Given the description of an element on the screen output the (x, y) to click on. 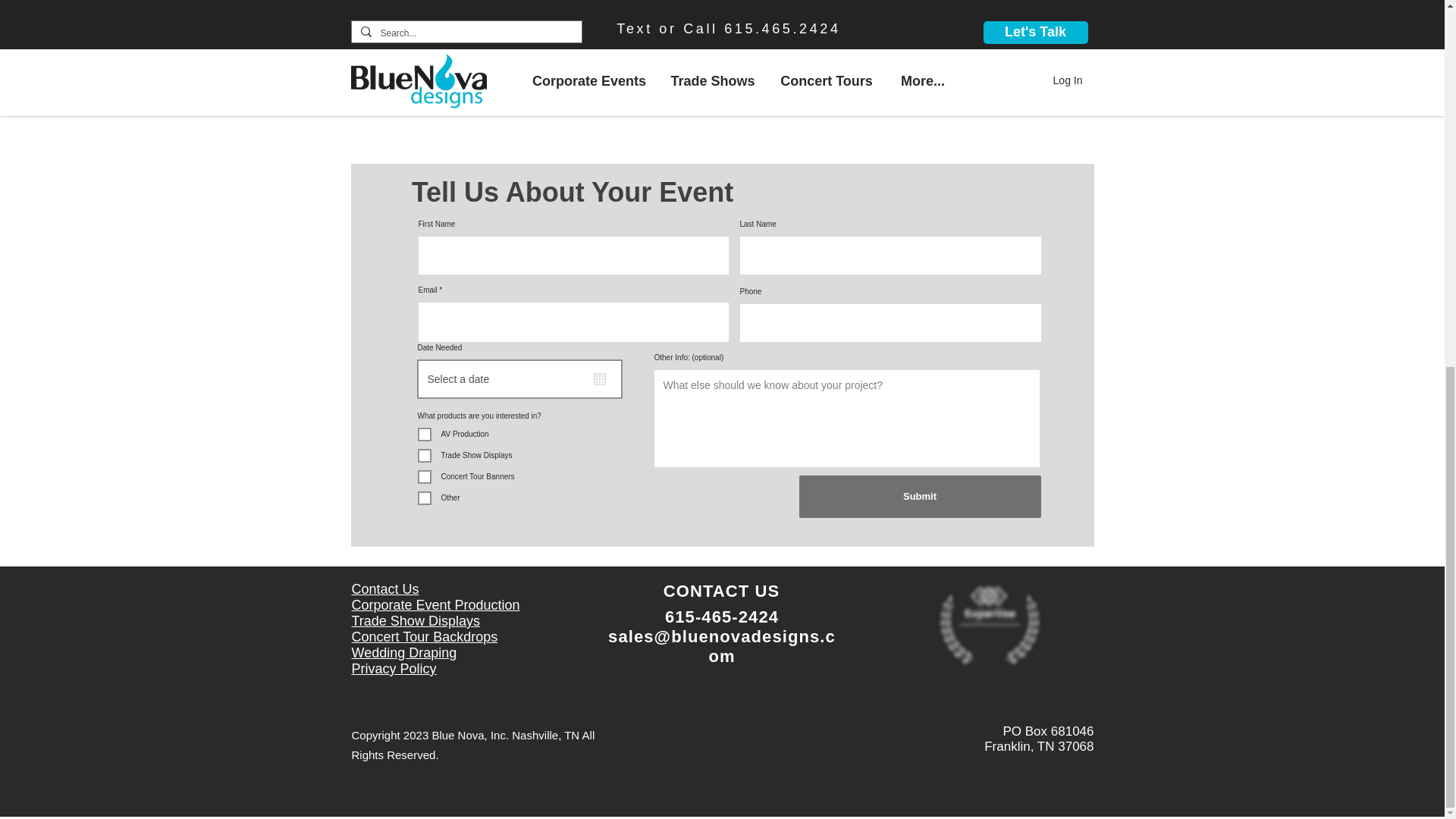
Submit (920, 496)
Contact Us (385, 589)
